Given the description of an element on the screen output the (x, y) to click on. 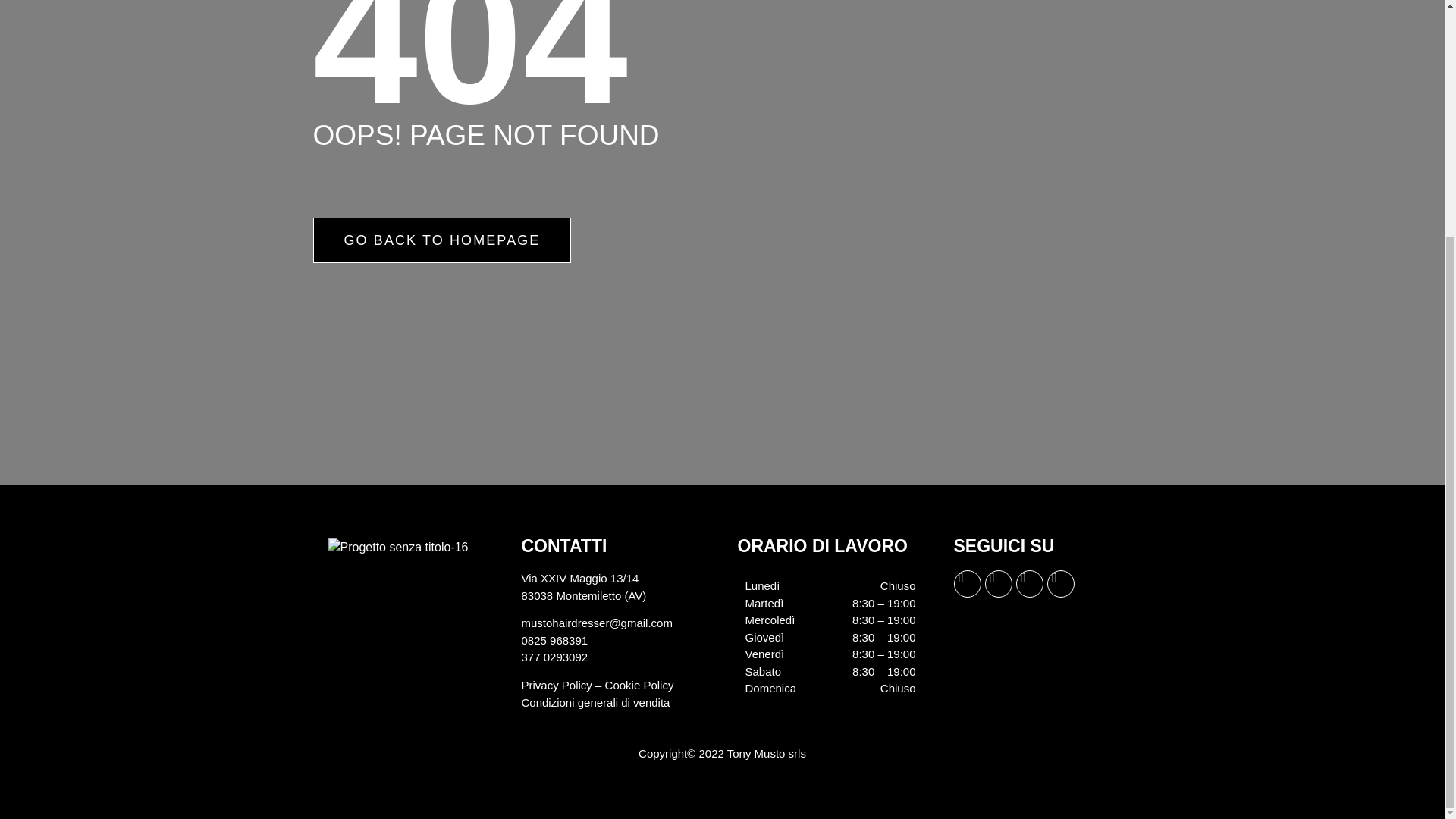
0825 968391 (554, 640)
GO BACK TO HOMEPAGE (441, 239)
377 0293092 (554, 656)
Progetto senza titolo-16 (397, 547)
Privacy Policy (556, 684)
Cookie Policy (639, 684)
Condizioni generali di vendita (595, 702)
